Given the description of an element on the screen output the (x, y) to click on. 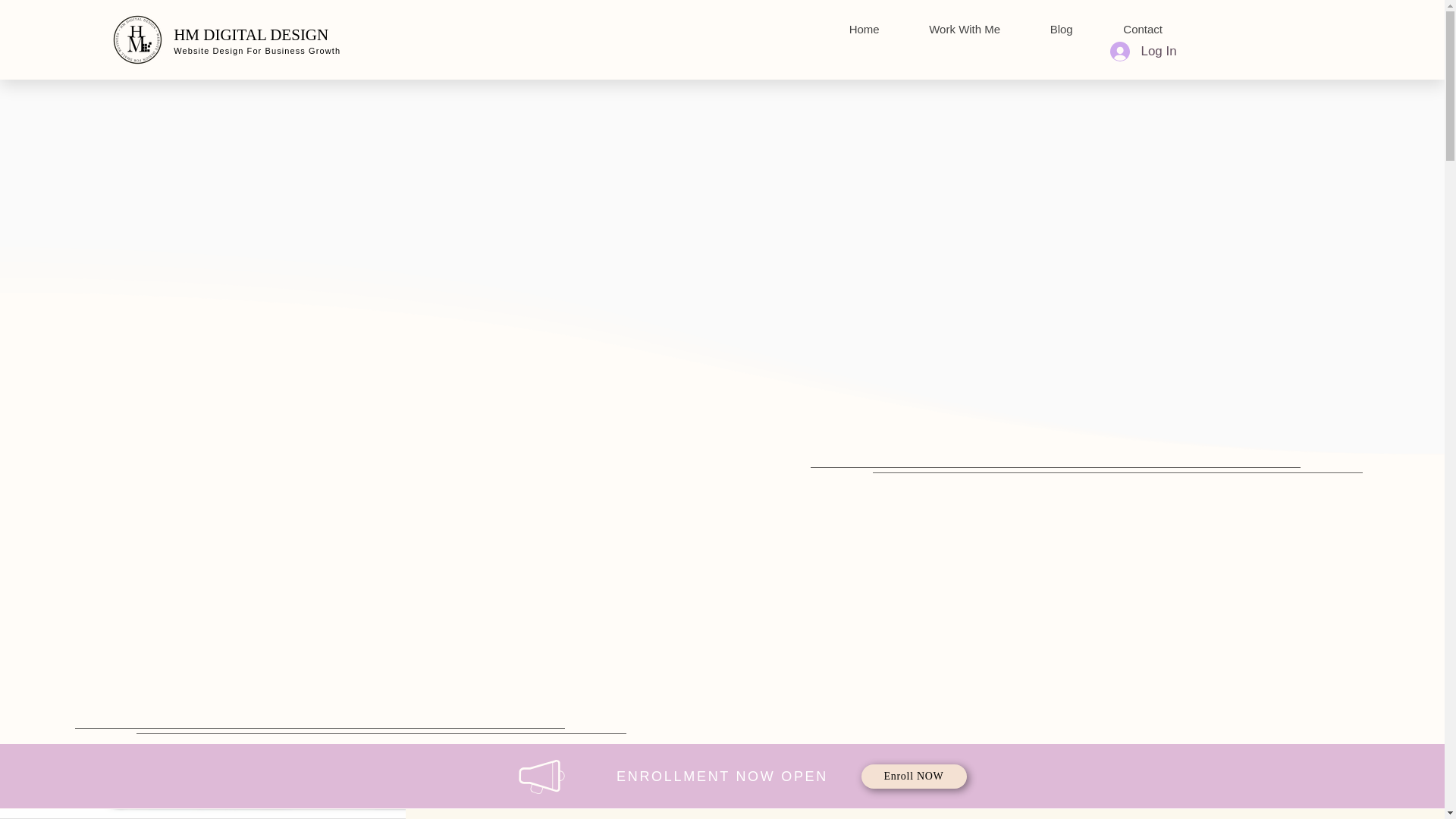
Contact (1142, 28)
Enroll NOW (913, 776)
Work With Me (964, 28)
Blog (1061, 28)
Home (864, 28)
Log In (1142, 50)
